Given the description of an element on the screen output the (x, y) to click on. 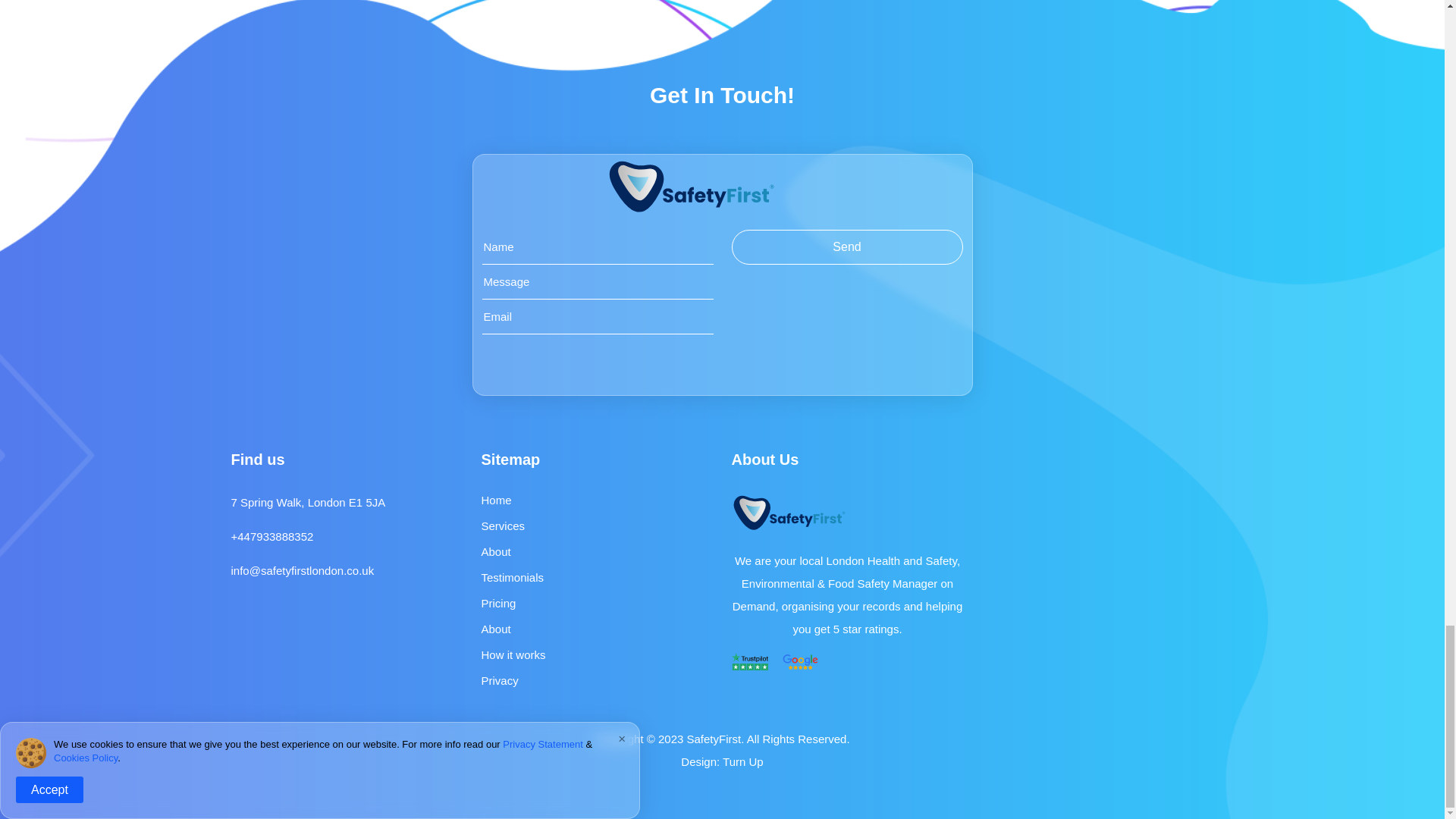
About (495, 628)
Turn Up (742, 761)
Privacy (499, 680)
About (495, 551)
Testimonials (511, 576)
Pricing (497, 603)
How it works (512, 654)
Services (502, 525)
Send (846, 247)
css templates (742, 761)
Home (495, 499)
